Given the description of an element on the screen output the (x, y) to click on. 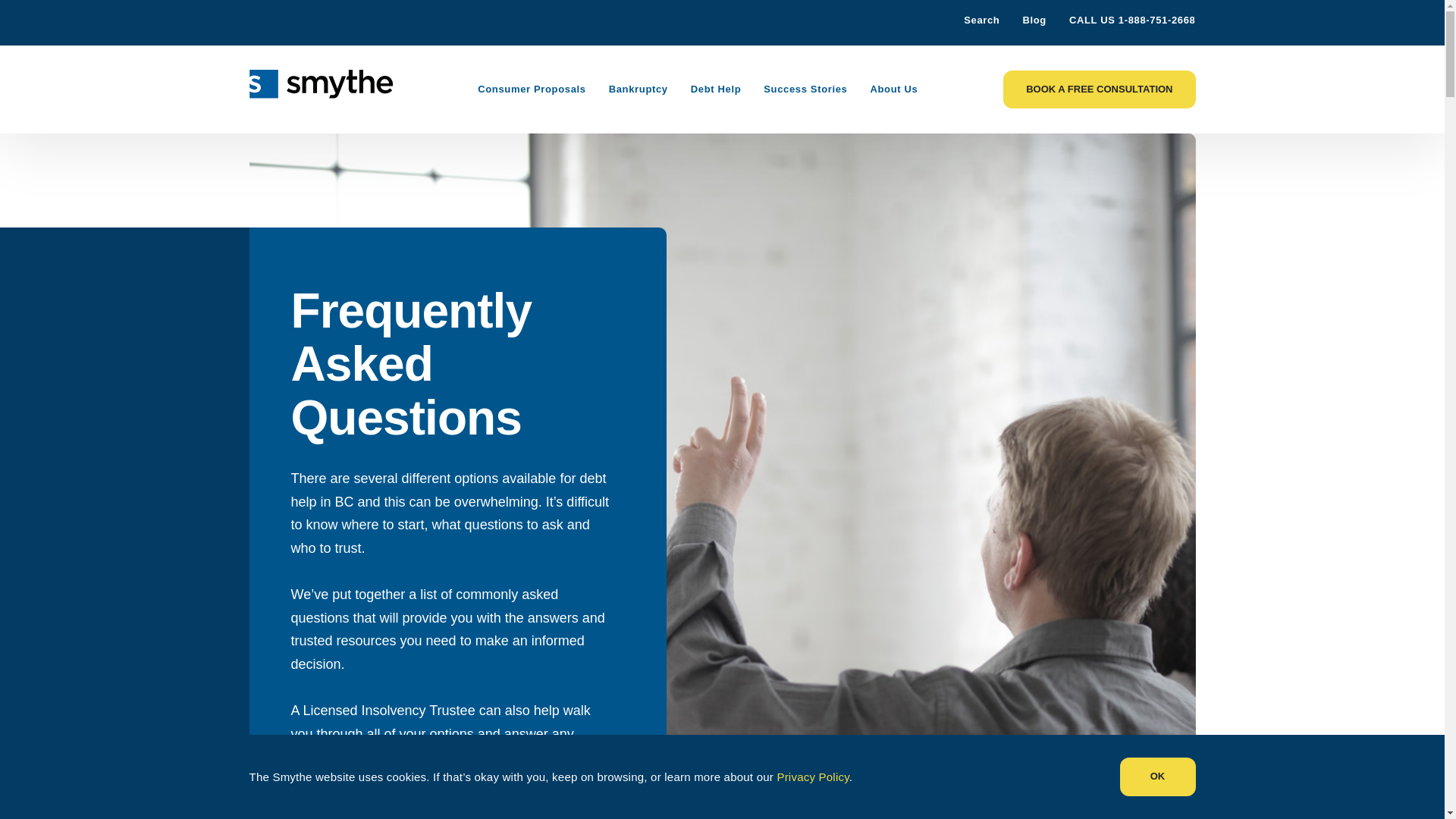
CALL US 1-888-751-2668 (1131, 19)
Search (970, 20)
Success Stories (805, 89)
Bankruptcy (637, 89)
BOOK A FREE CONSULTATION (1099, 89)
Consumer Proposals (530, 89)
Blog (1033, 19)
